Given the description of an element on the screen output the (x, y) to click on. 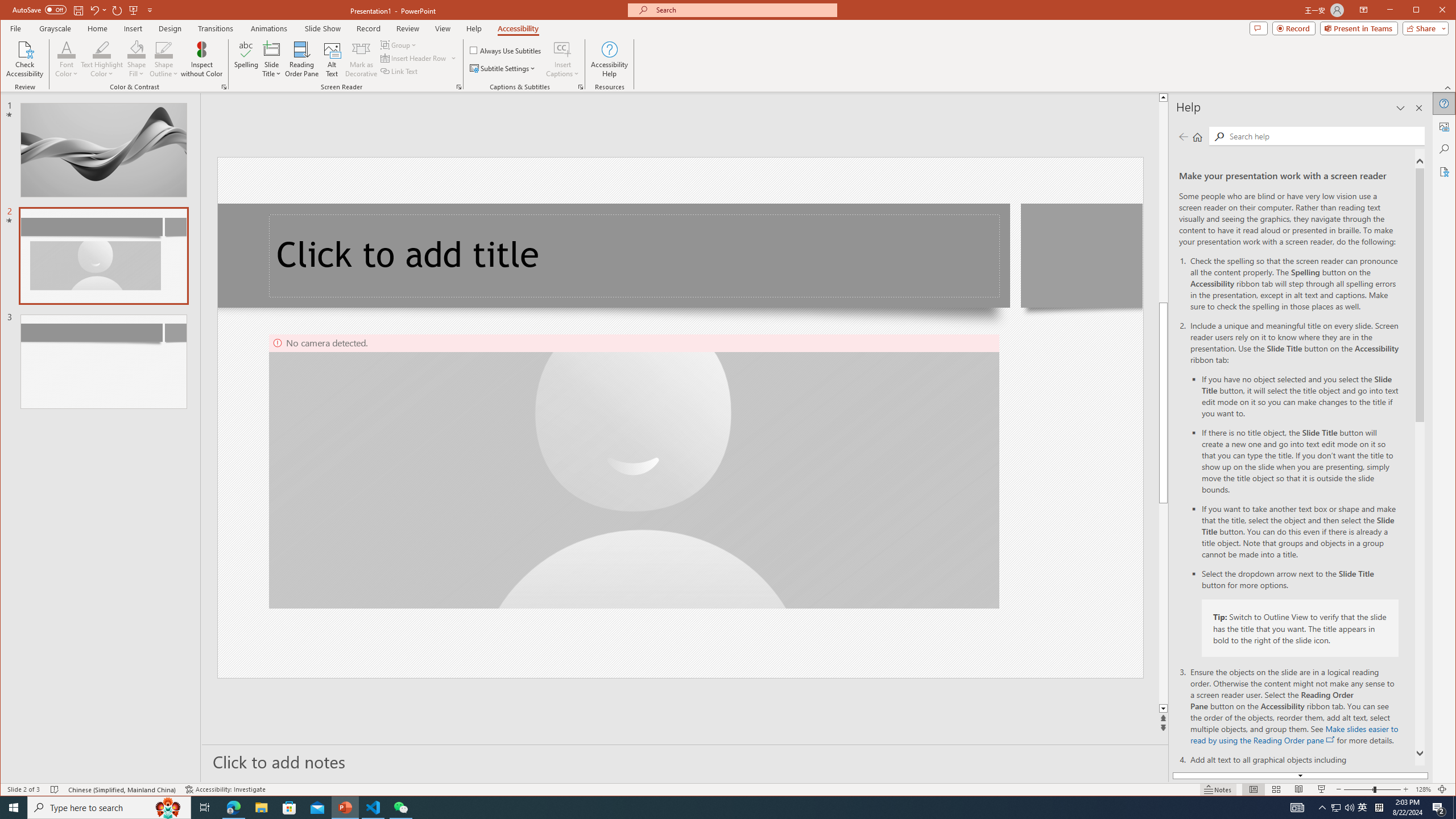
Slide (103, 361)
Camera 4, No camera detected. (633, 471)
User Promoted Notification Area (1342, 807)
Link Text (399, 70)
Captions & Subtitles (580, 86)
Reading Order Pane (301, 59)
Microsoft search (742, 10)
Page up (1162, 201)
Alt Text (331, 59)
Start (13, 807)
